Given the description of an element on the screen output the (x, y) to click on. 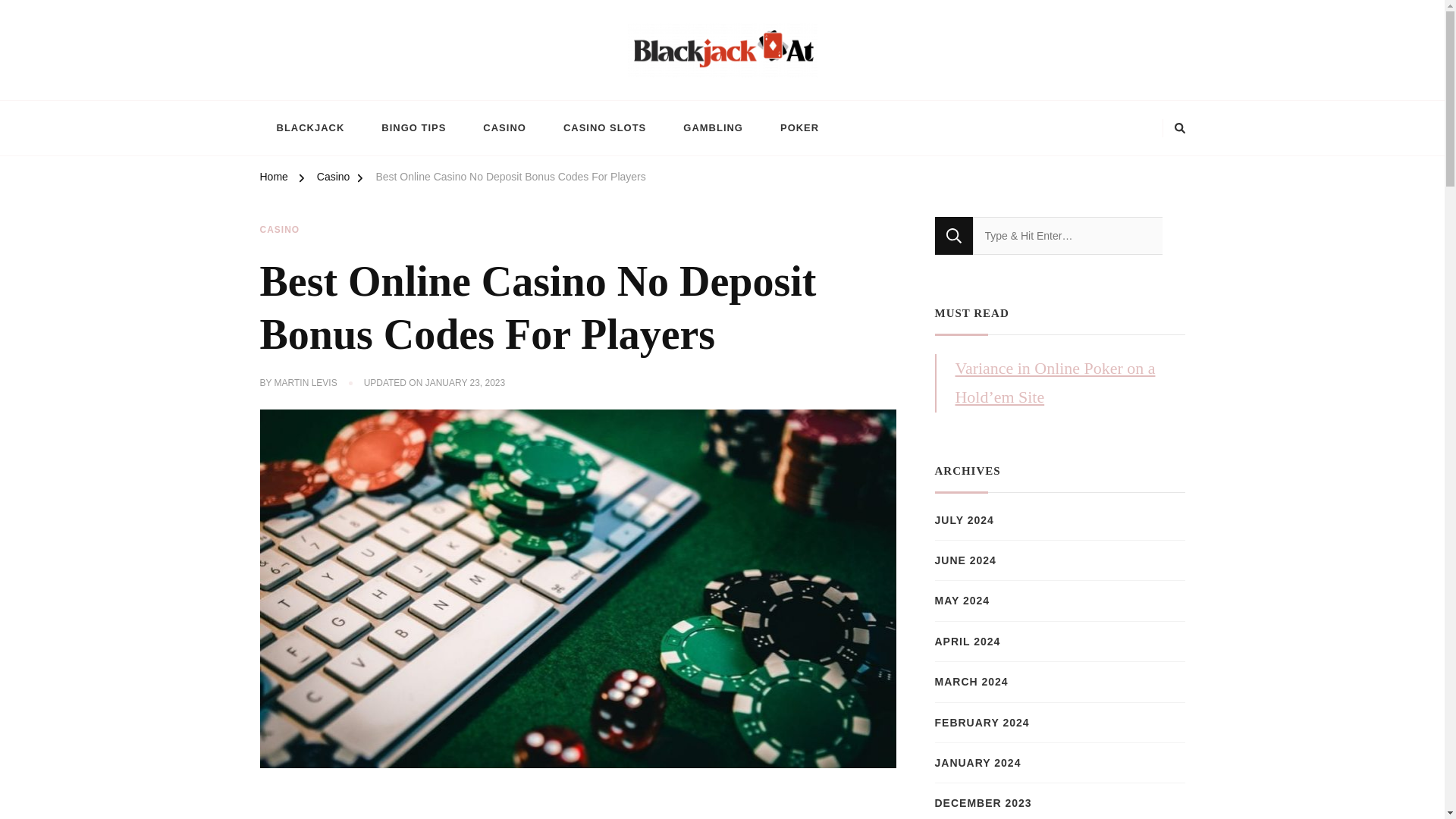
Best Online Casino No Deposit Bonus Codes For Players (510, 178)
MAY 2024 (962, 600)
Home (272, 178)
Blackjack At (322, 91)
POKER (798, 128)
BLACKJACK (310, 128)
Search (953, 235)
CASINO SLOTS (604, 128)
CASINO (279, 230)
GAMBLING (713, 128)
CASINO (504, 128)
Casino (333, 178)
JUNE 2024 (964, 560)
JULY 2024 (963, 519)
JANUARY 23, 2023 (465, 383)
